Given the description of an element on the screen output the (x, y) to click on. 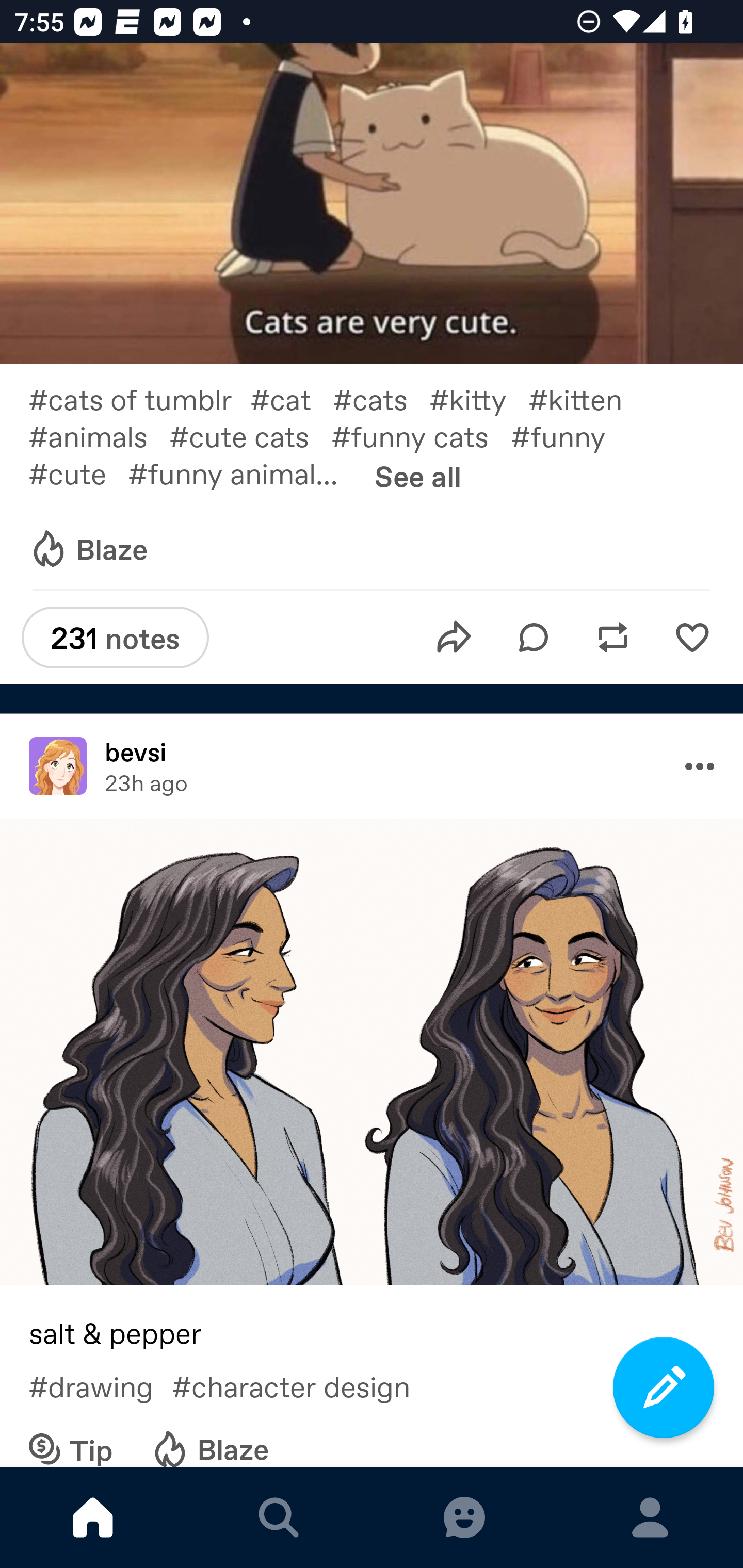
#cats of tumblr (139, 398)
#cat (291, 398)
#cats (380, 398)
#kitty (478, 398)
#kitten (586, 398)
#animals (98, 435)
#cute cats (250, 435)
#funny cats (421, 435)
#funny (569, 435)
#cute (77, 472)
#funny animal… (243, 472)
See all (417, 475)
Blaze Blaze Blaze (88, 549)
Share post to message (454, 638)
Reply (533, 638)
Reblog (612, 638)
Like (691, 638)
231 notes (114, 636)
Avatar frame bevsi   bevsi 23h ago (371, 765)
Compose a new post (663, 1387)
#drawing (99, 1385)
#character design (305, 1385)
Tip (71, 1436)
Blaze Blaze Blaze (209, 1436)
DASHBOARD (92, 1517)
EXPLORE (278, 1517)
MESSAGES (464, 1517)
ACCOUNT (650, 1517)
